Given the description of an element on the screen output the (x, y) to click on. 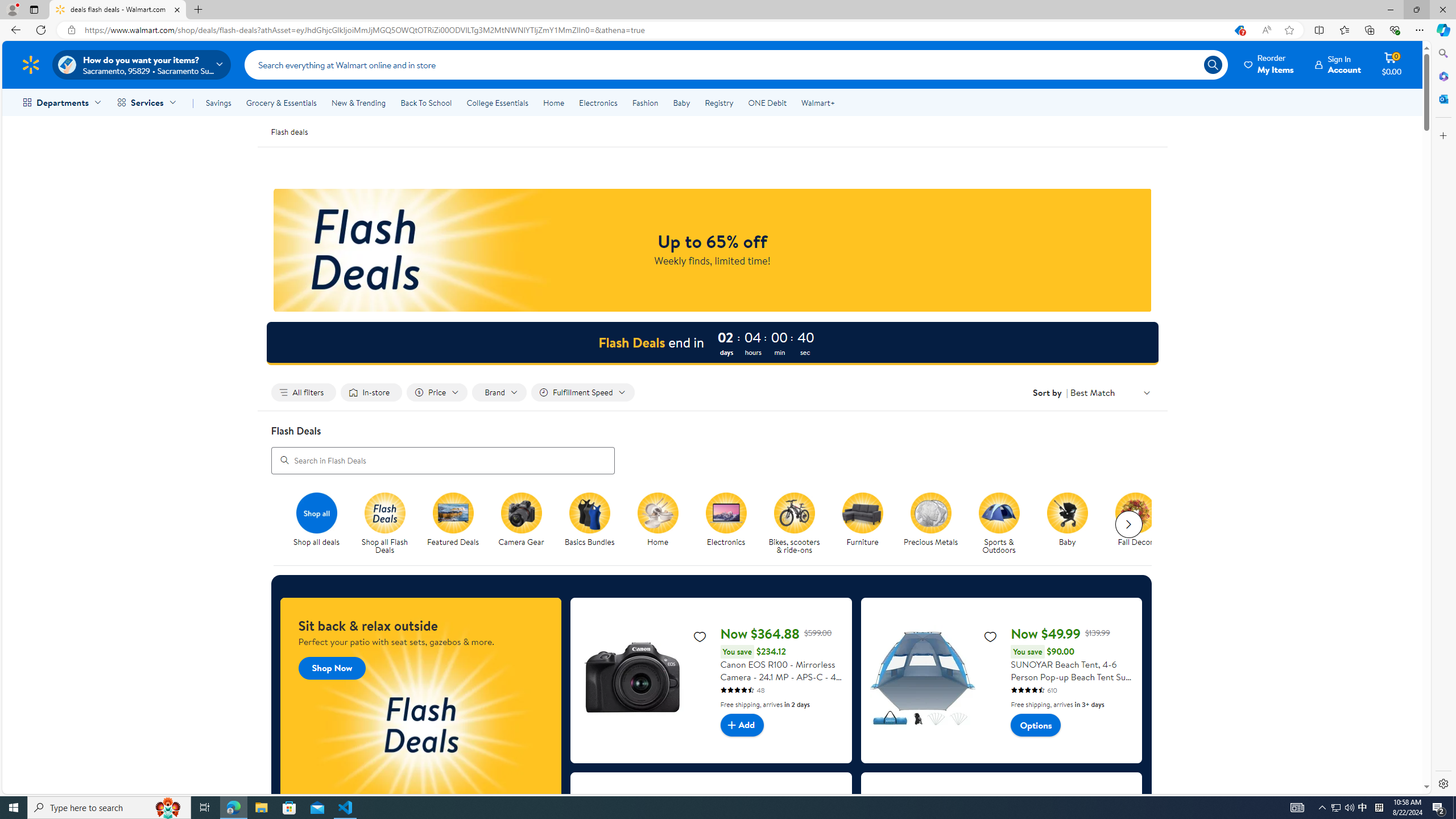
College Essentials (496, 102)
Flash Deals Shop all Flash Deals (384, 524)
ReorderMy Items (1269, 64)
Reorder My Items (1269, 64)
Basics Bundles (593, 524)
Filter by Brand not applied, activate to change (499, 392)
Savings (217, 102)
Featured Deals (457, 524)
Search icon (1212, 64)
Sports & Outdoors (998, 512)
